Given the description of an element on the screen output the (x, y) to click on. 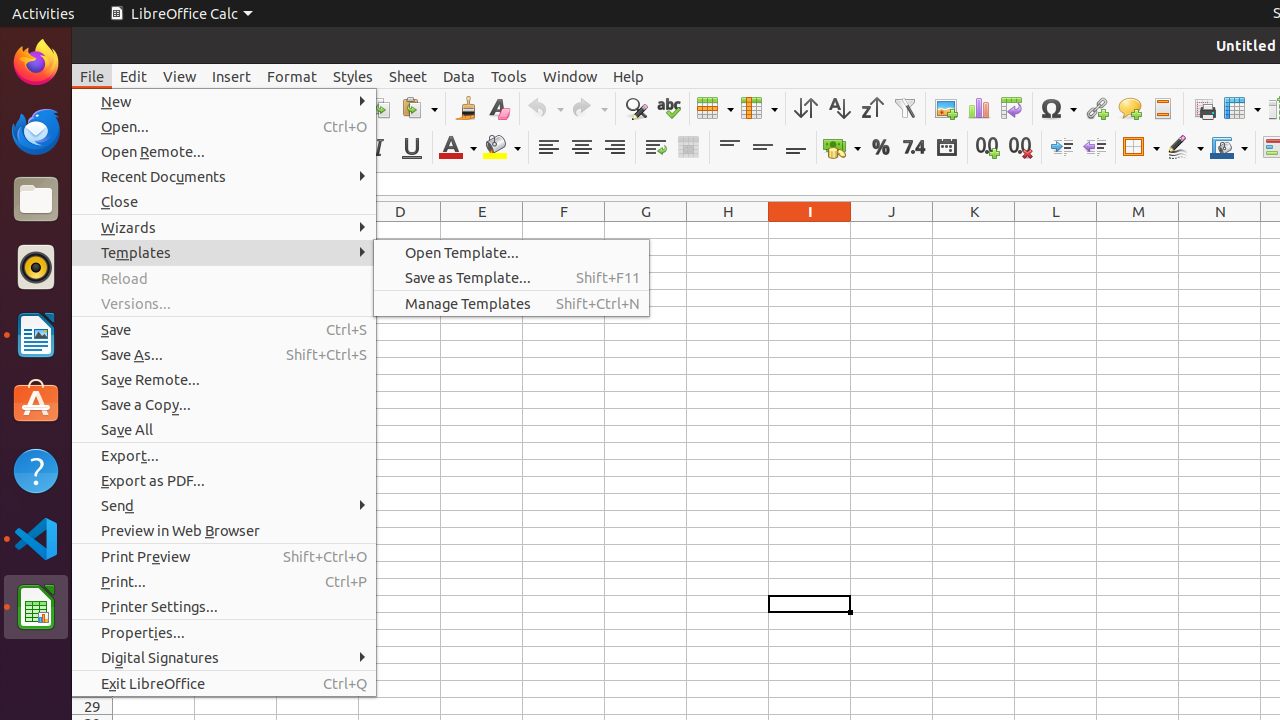
Save Remote... Element type: menu-item (224, 379)
Comment Element type: push-button (1129, 108)
Increase Element type: push-button (1061, 147)
Open Remote... Element type: menu-item (224, 151)
Manage Templates Element type: menu-item (511, 303)
